Given the description of an element on the screen output the (x, y) to click on. 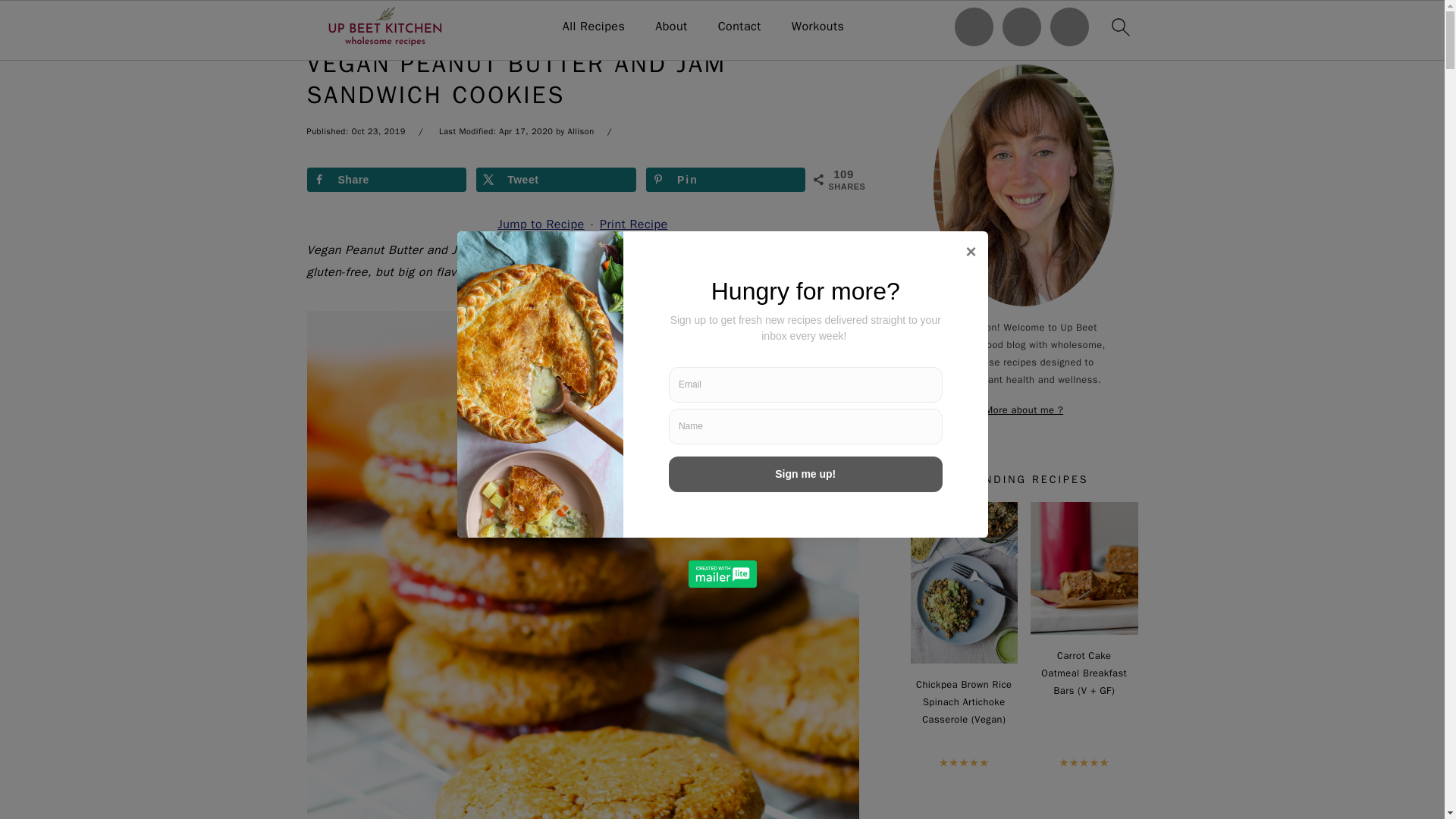
Recipes (374, 25)
All Recipes (594, 26)
Share on X (556, 179)
About (671, 26)
Pin (726, 179)
Share on Facebook (385, 179)
search icon (1119, 26)
Tweet (556, 179)
Share (385, 179)
Workouts (818, 26)
Home (322, 25)
Save to Pinterest (726, 179)
Cookies and Small Treats (482, 25)
Contact (739, 26)
